Given the description of an element on the screen output the (x, y) to click on. 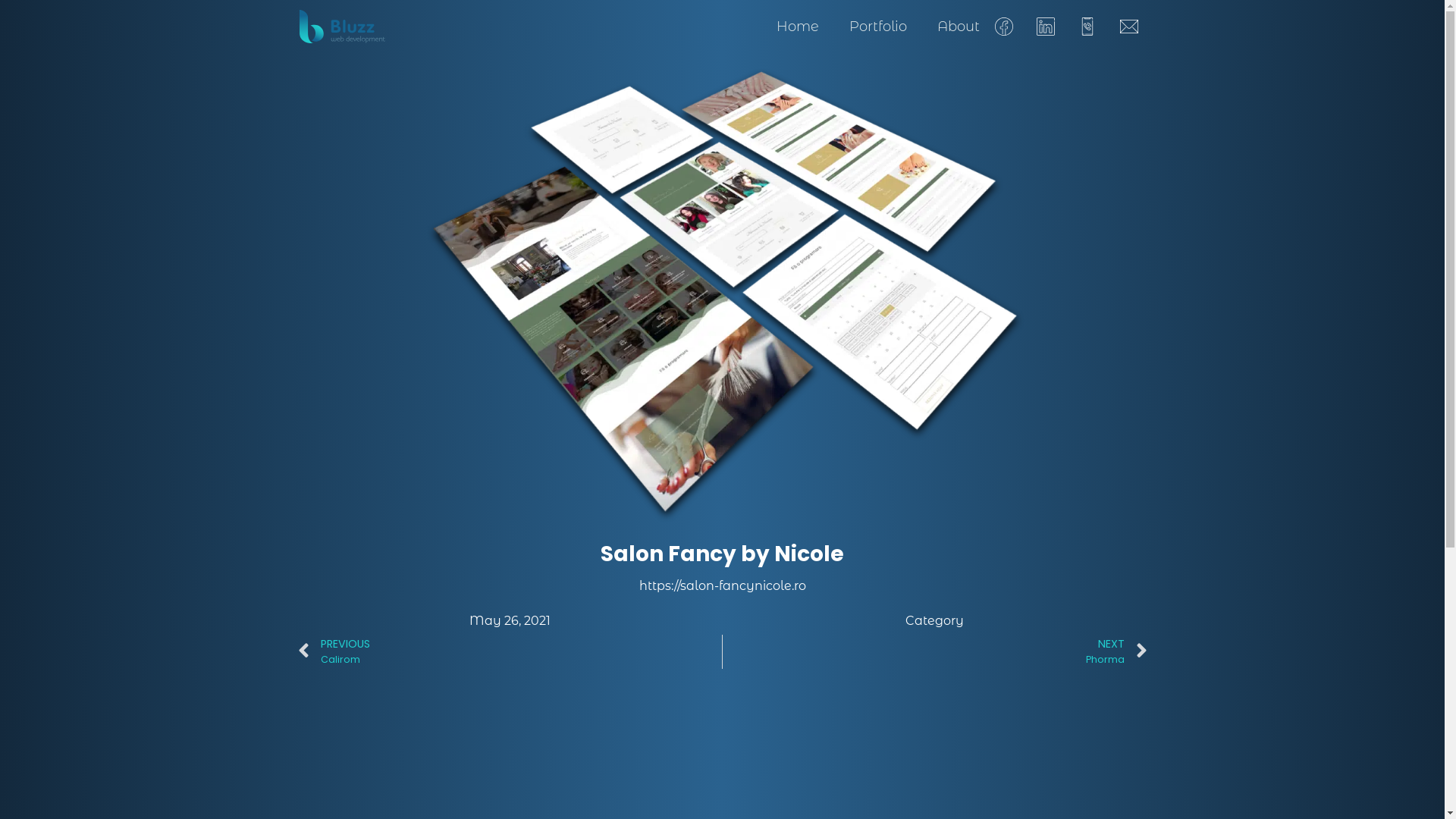
NEXT
Phorma Element type: text (934, 651)
Home Element type: text (797, 26)
Portfolio Element type: text (878, 26)
PREVIOUS
Calirom Element type: text (509, 651)
About Element type: text (958, 26)
https://salon-fancynicole.ro Element type: text (721, 585)
